Given the description of an element on the screen output the (x, y) to click on. 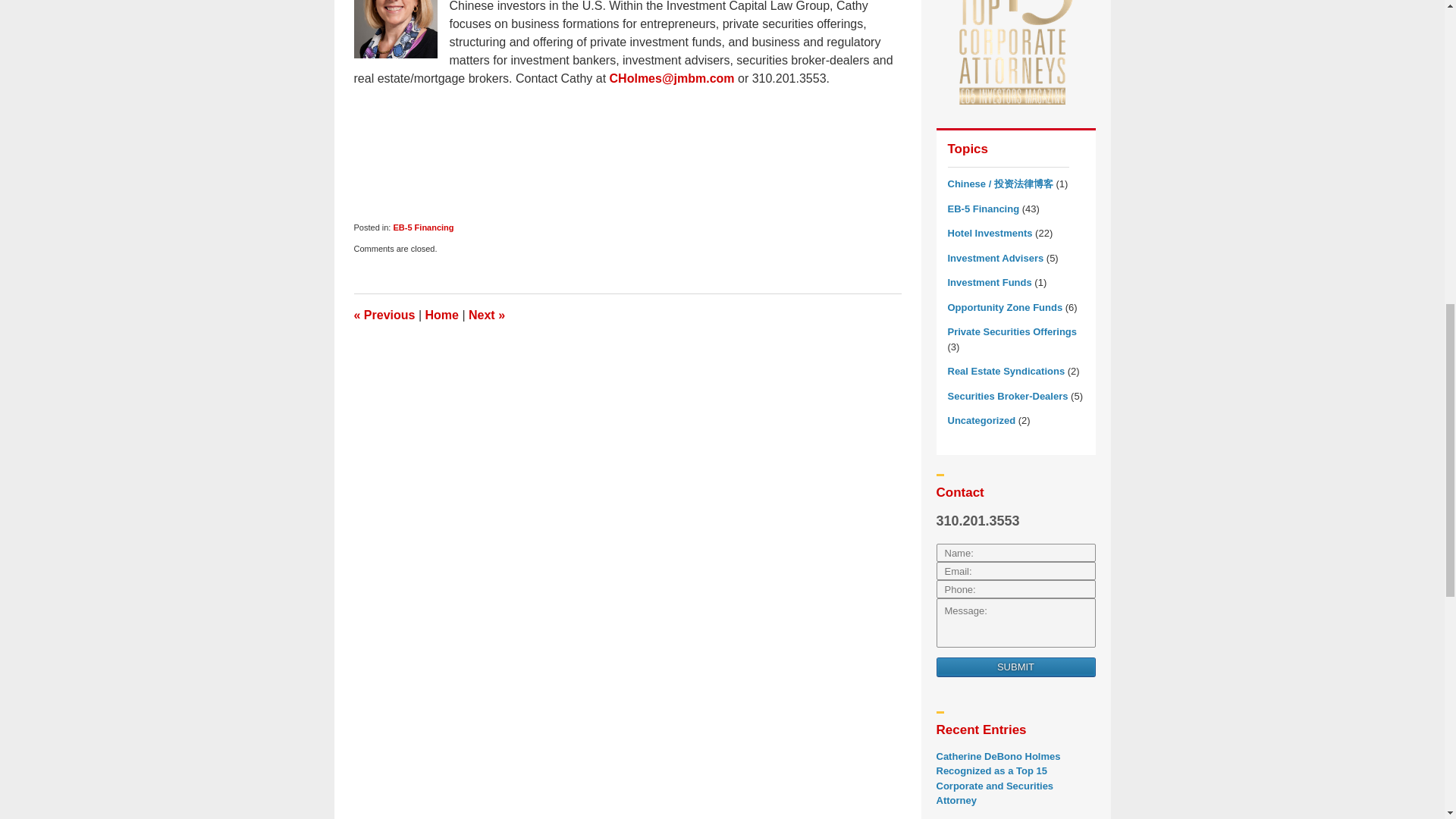
View all posts in EB-5 Financing (422, 226)
Please enter a valid phone number. (1015, 588)
EB-5 Financing (422, 226)
Home (441, 314)
EB-5 Financing for Hotel Development (383, 314)
